Given the description of an element on the screen output the (x, y) to click on. 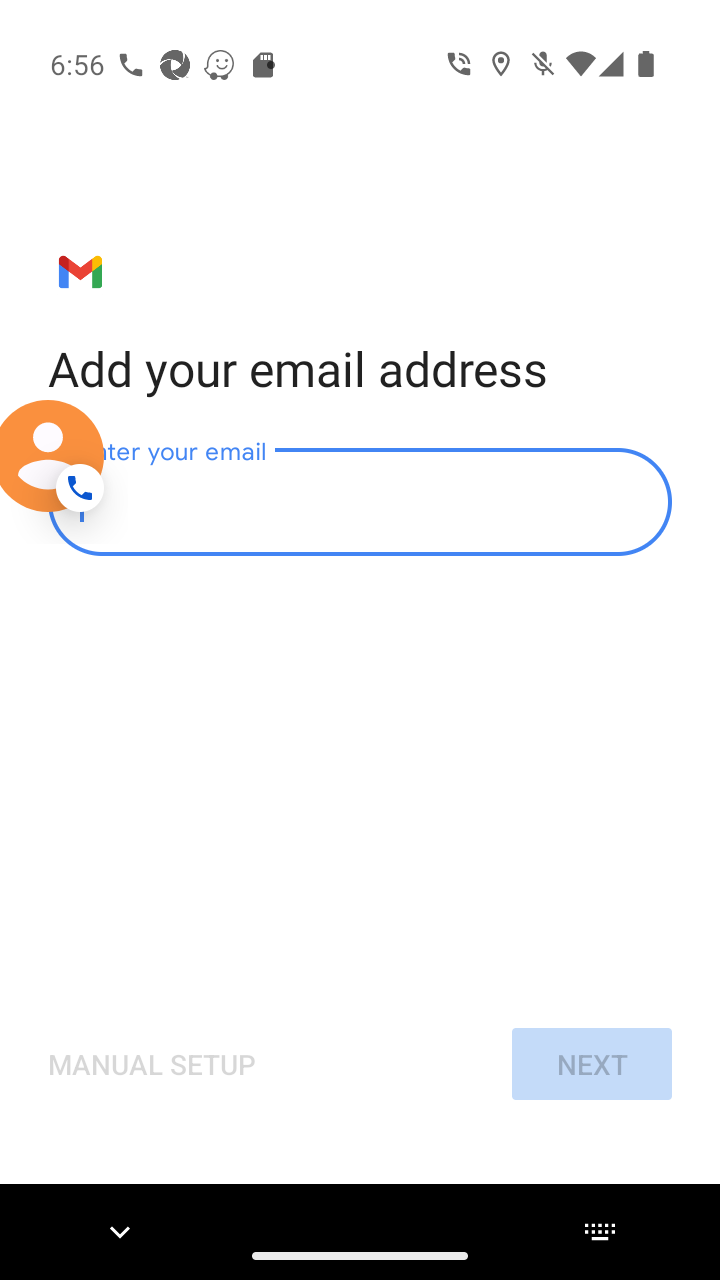
Enter your email (359, 501)
MANUAL SETUP (151, 1064)
NEXT (591, 1064)
